Given the description of an element on the screen output the (x, y) to click on. 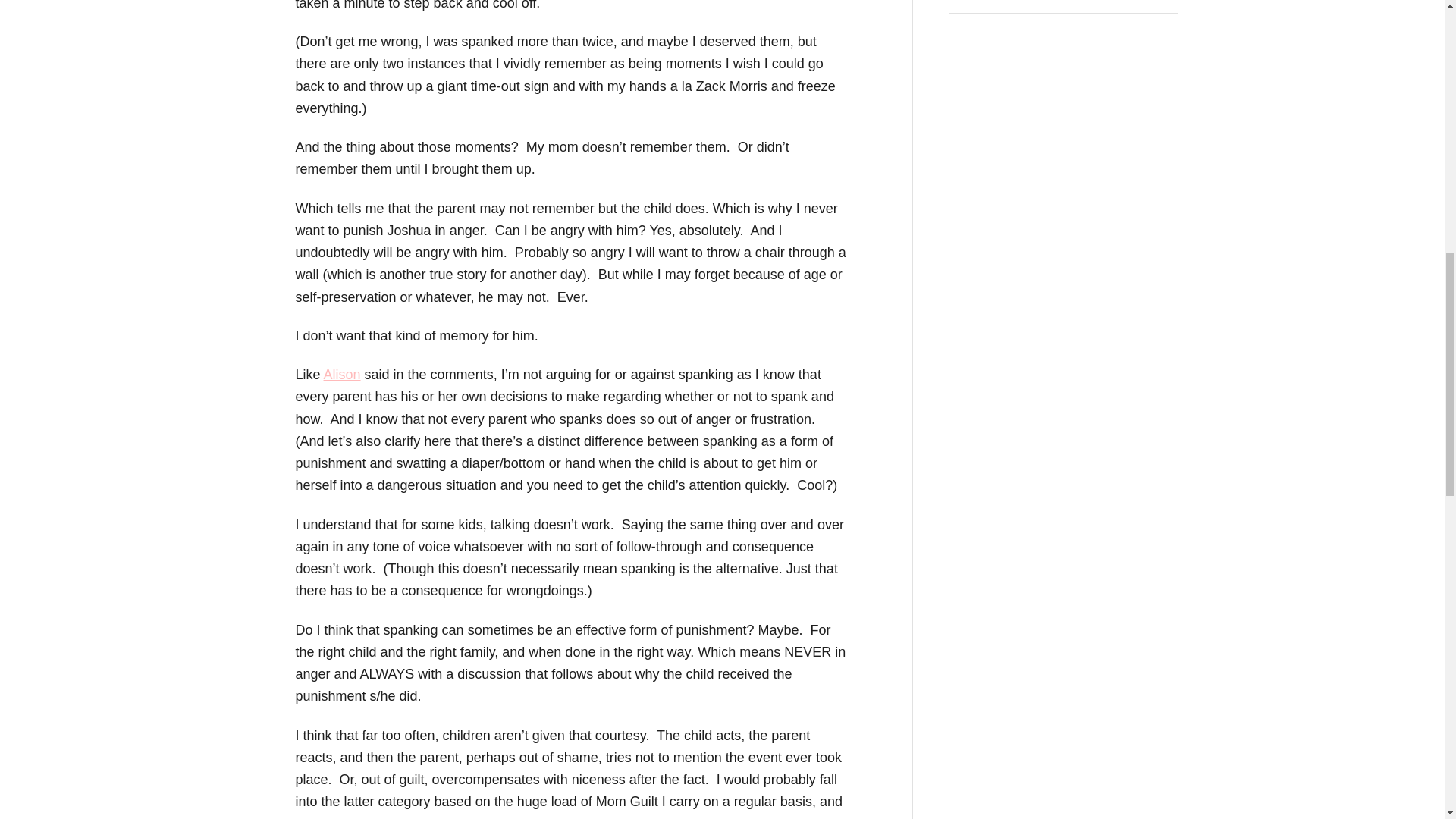
Alison (342, 374)
